Given the description of an element on the screen output the (x, y) to click on. 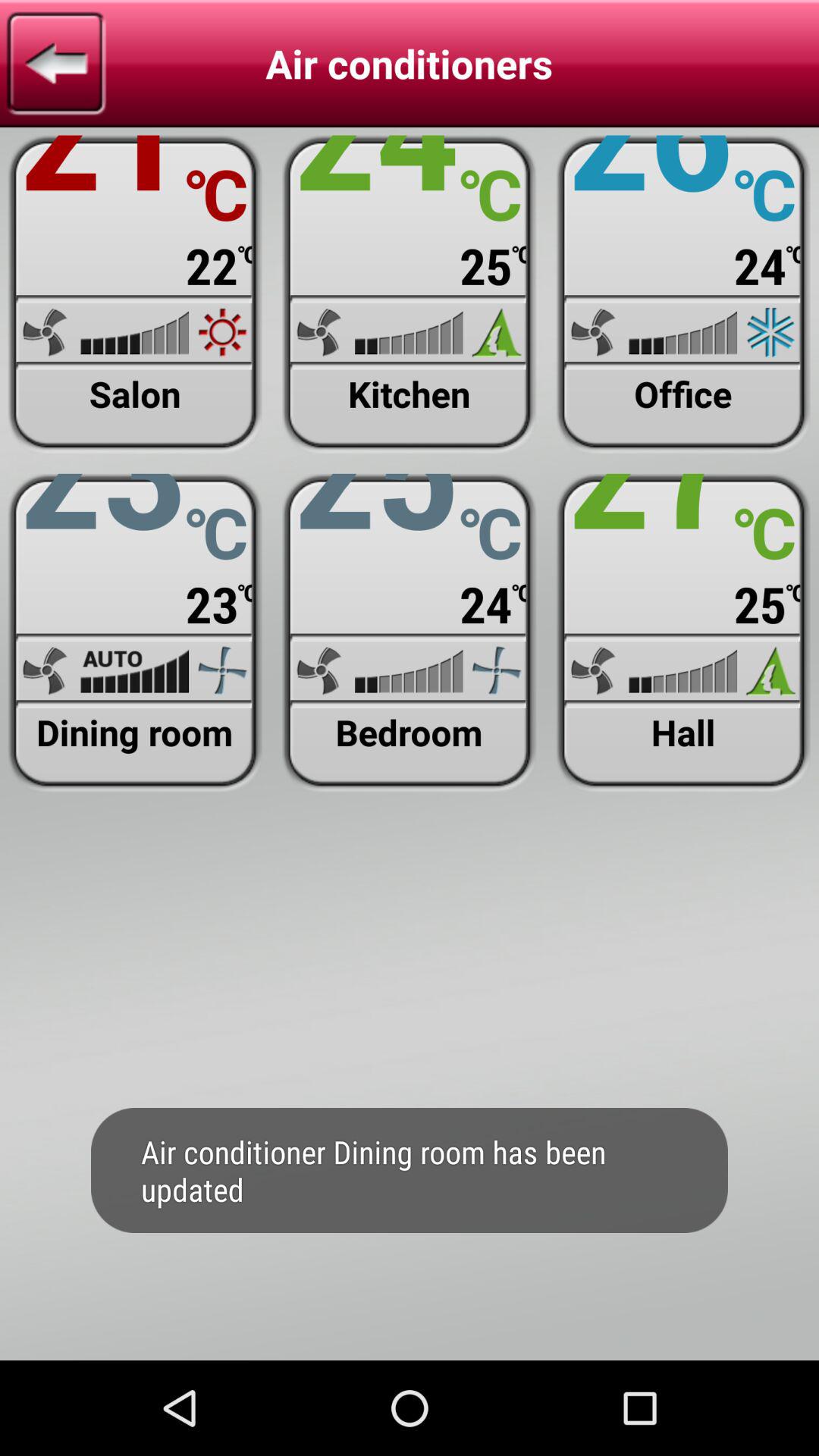
weather (683, 294)
